Given the description of an element on the screen output the (x, y) to click on. 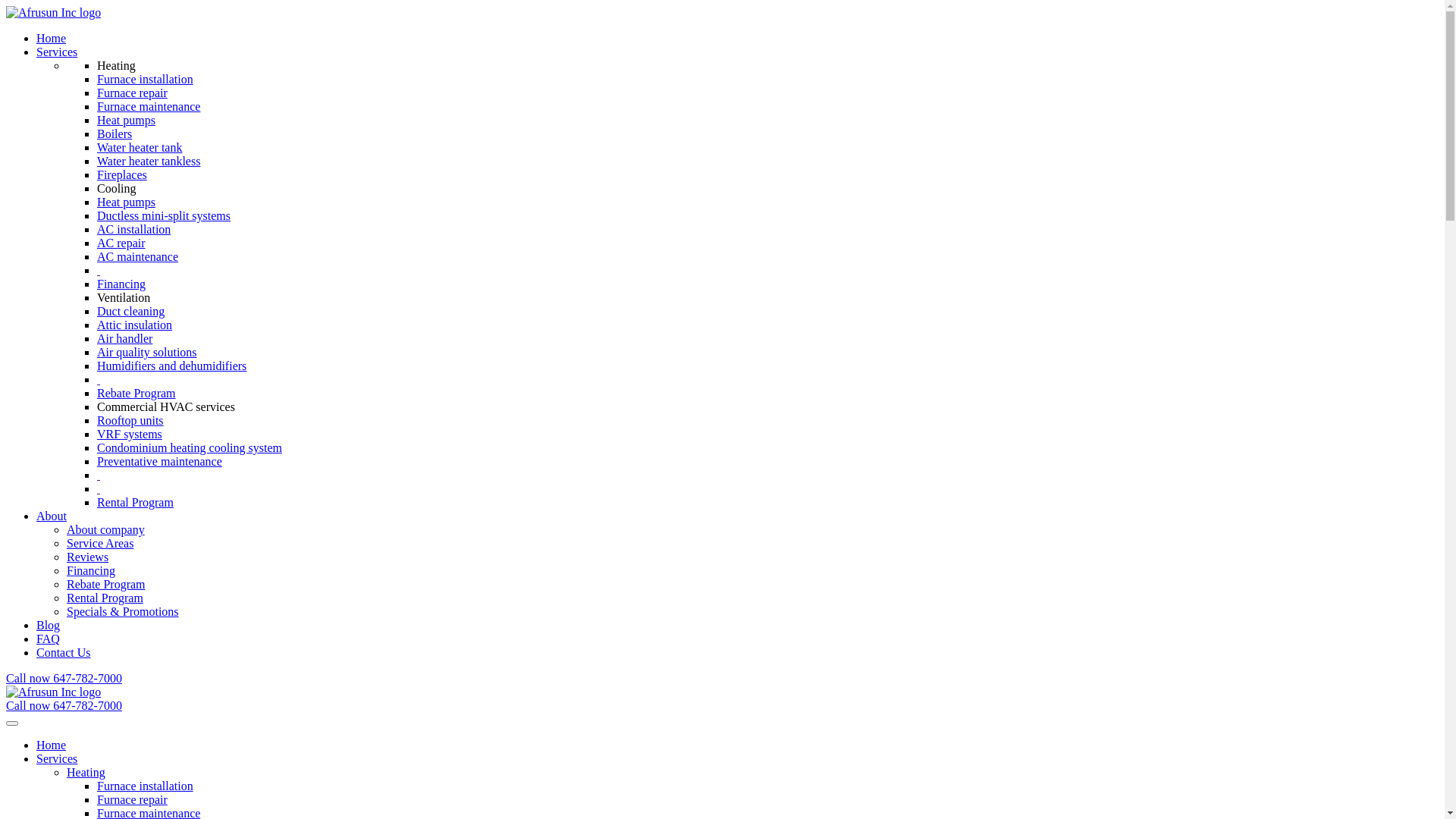
Attic insulation Element type: text (134, 324)
FAQ Element type: text (47, 638)
Water heater tank Element type: text (139, 147)
  Element type: text (98, 379)
AC repair Element type: text (121, 242)
Fireplaces Element type: text (122, 174)
Home Element type: text (50, 744)
Furnace maintenance Element type: text (148, 106)
Air quality solutions Element type: text (147, 351)
Furnace installation Element type: text (145, 78)
Furnace installation Element type: text (145, 785)
AC installation Element type: text (133, 228)
Service Areas Element type: text (99, 542)
Water heater tankless Element type: text (148, 160)
Specials & Promotions Element type: text (122, 611)
Services Element type: text (56, 51)
Preventative maintenance Element type: text (159, 461)
Rooftop units Element type: text (130, 420)
About Element type: text (51, 515)
Air handler Element type: text (124, 338)
Rental Program Element type: text (135, 501)
Financing Element type: text (121, 283)
Rebate Program Element type: text (136, 392)
  Element type: text (98, 488)
Financing Element type: text (90, 570)
Duct cleaning Element type: text (130, 310)
Services Element type: text (56, 758)
  Element type: text (98, 474)
Call now 647-782-7000 Element type: text (64, 677)
Furnace repair Element type: text (132, 799)
Rebate Program Element type: text (105, 583)
Humidifiers and dehumidifiers Element type: text (171, 365)
Rental Program Element type: text (104, 597)
Ductless mini-split systems Element type: text (163, 215)
Home Element type: text (50, 37)
Heating Element type: text (85, 771)
Heat pumps Element type: text (126, 201)
Furnace repair Element type: text (132, 92)
About company Element type: text (105, 529)
  Element type: text (98, 269)
Boilers Element type: text (114, 133)
AC maintenance Element type: text (137, 256)
Heat pumps Element type: text (126, 119)
VRF systems Element type: text (129, 433)
Condominium heating cooling system Element type: text (189, 447)
Blog Element type: text (47, 624)
Reviews Element type: text (87, 556)
Call now 647-782-7000 Element type: text (64, 705)
Contact Us Element type: text (63, 652)
